Given the description of an element on the screen output the (x, y) to click on. 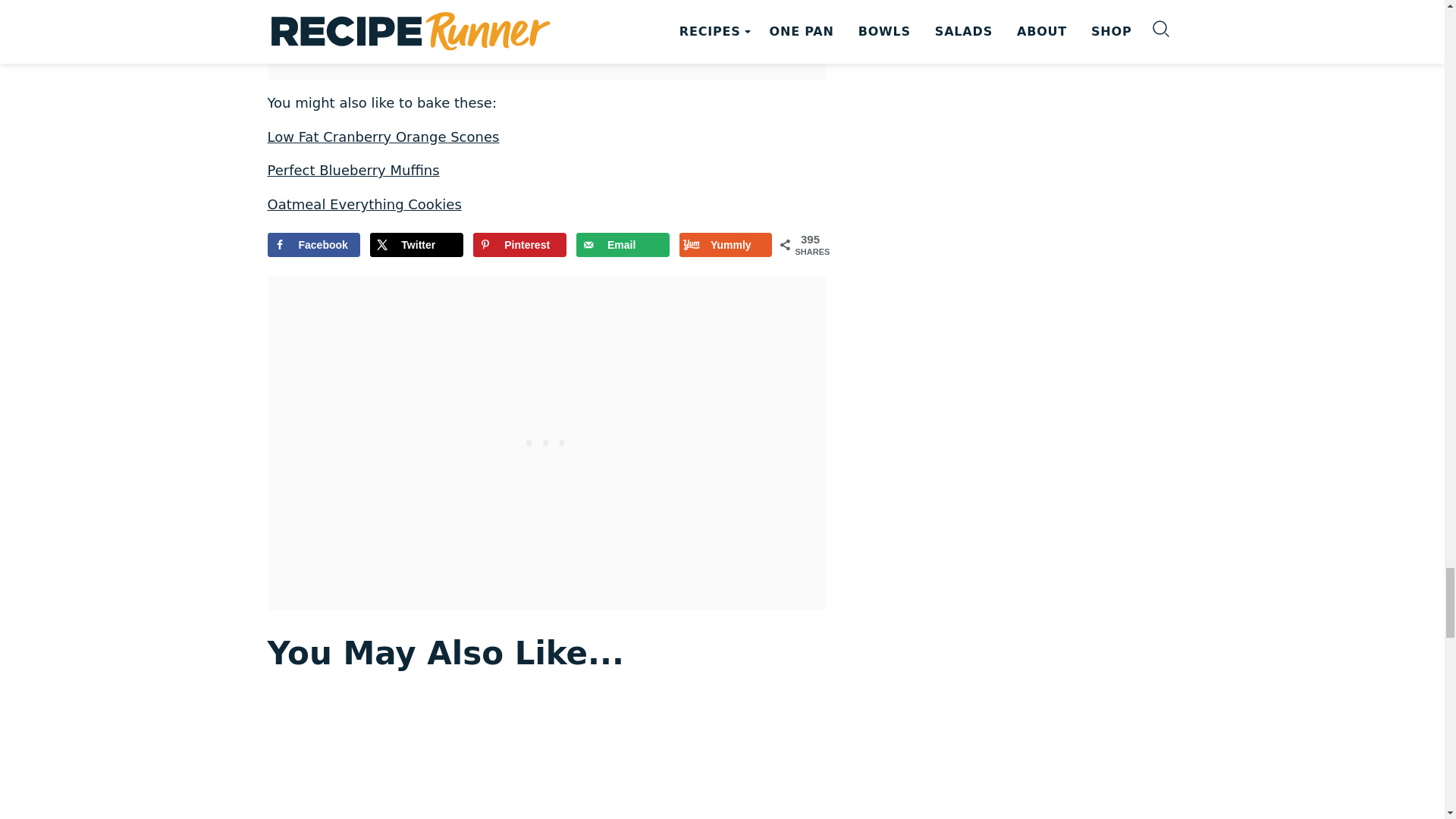
Share on X (416, 244)
Send over email (622, 244)
Share on Facebook (312, 244)
Share on Yummly (726, 244)
Save to Pinterest (519, 244)
